Given the description of an element on the screen output the (x, y) to click on. 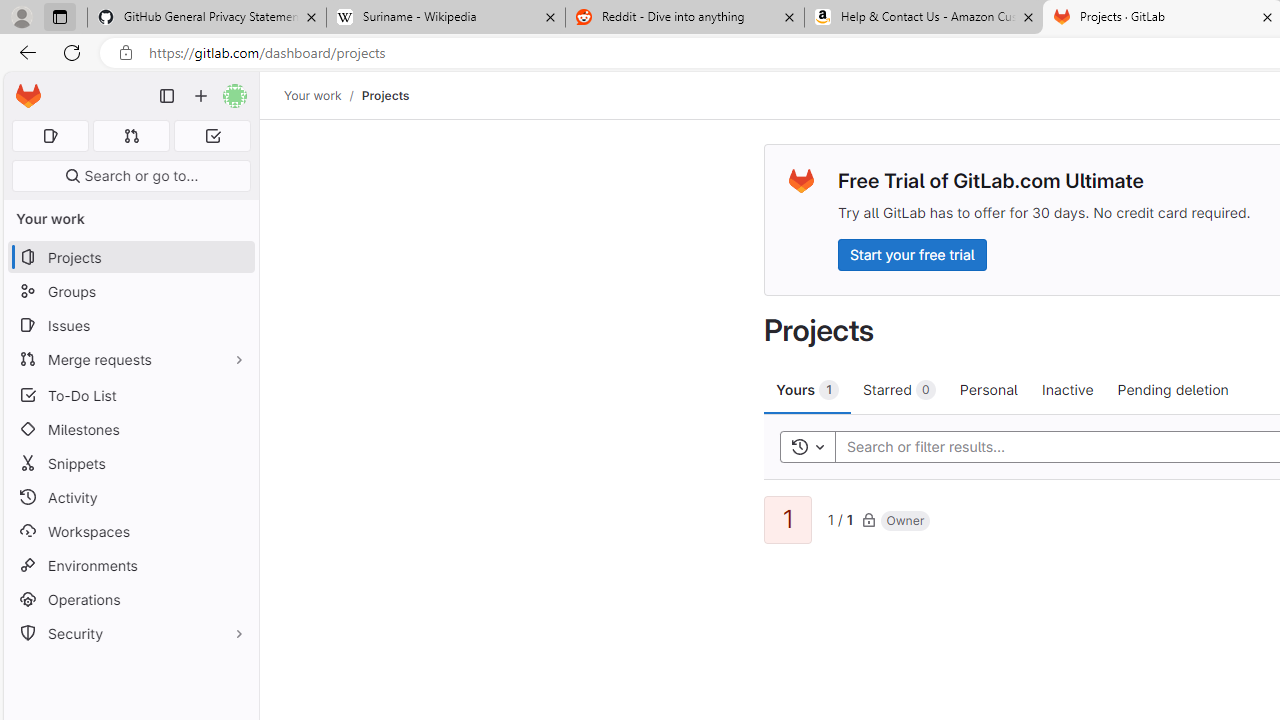
Merge requests (130, 358)
1 / 1 (840, 518)
Snippets (130, 463)
Class: s16 (868, 519)
Merge requests (130, 358)
Groups (130, 291)
Your work/ (323, 95)
Suriname - Wikipedia (445, 17)
Environments (130, 564)
Merge requests 0 (131, 136)
Issues (130, 325)
Milestones (130, 429)
